Given the description of an element on the screen output the (x, y) to click on. 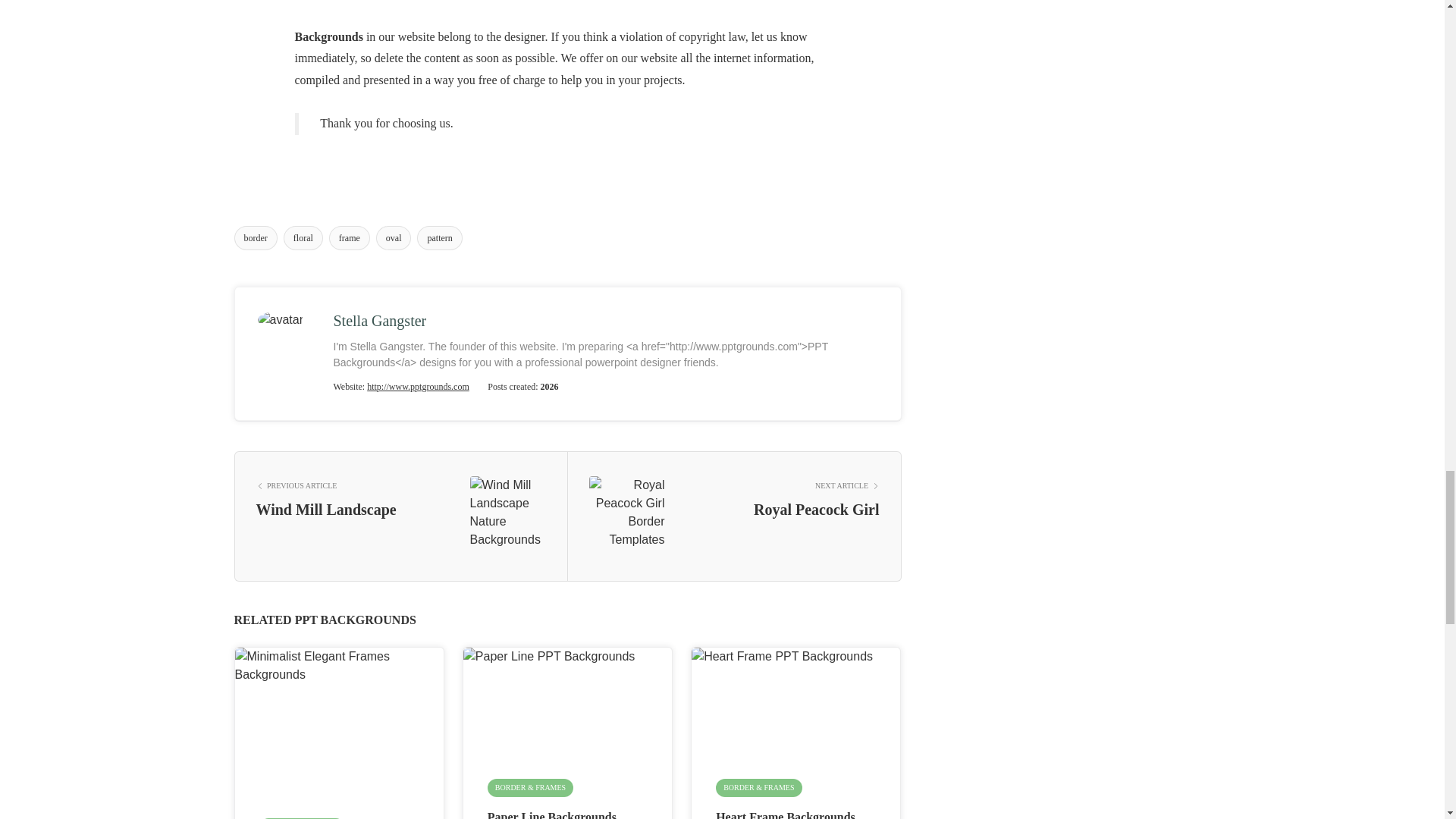
Posts by Stella Gangster (379, 320)
View all posts in pattern (438, 238)
View all posts in border (254, 238)
View all posts in oval (393, 238)
View all posts in floral (303, 238)
Website (417, 386)
View all posts in frame (349, 238)
